Given the description of an element on the screen output the (x, y) to click on. 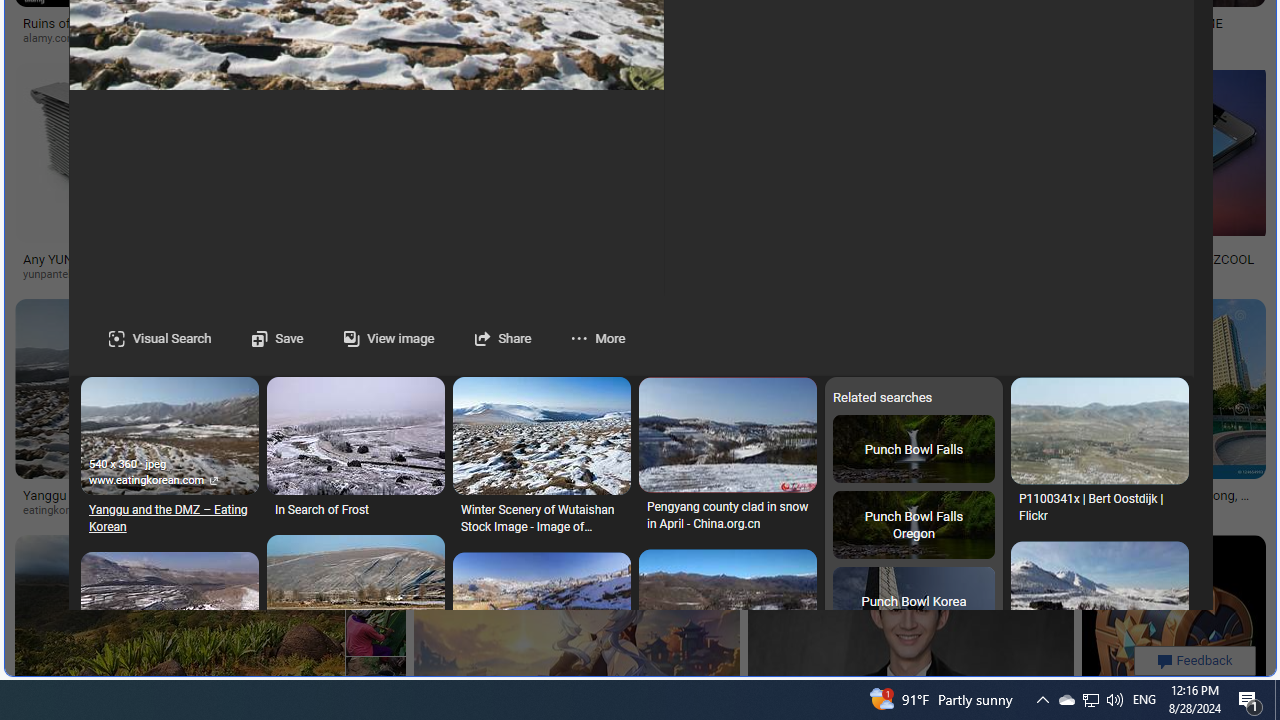
ebth.com (437, 274)
zcool.com.cn (1103, 273)
See related image detail. In Search of Frost (355, 436)
www.eatingkorean.com (152, 480)
alamy.com (140, 38)
marpple.shop (903, 511)
Dreamstime (1162, 511)
vecteezy.com (358, 511)
